Given the description of an element on the screen output the (x, y) to click on. 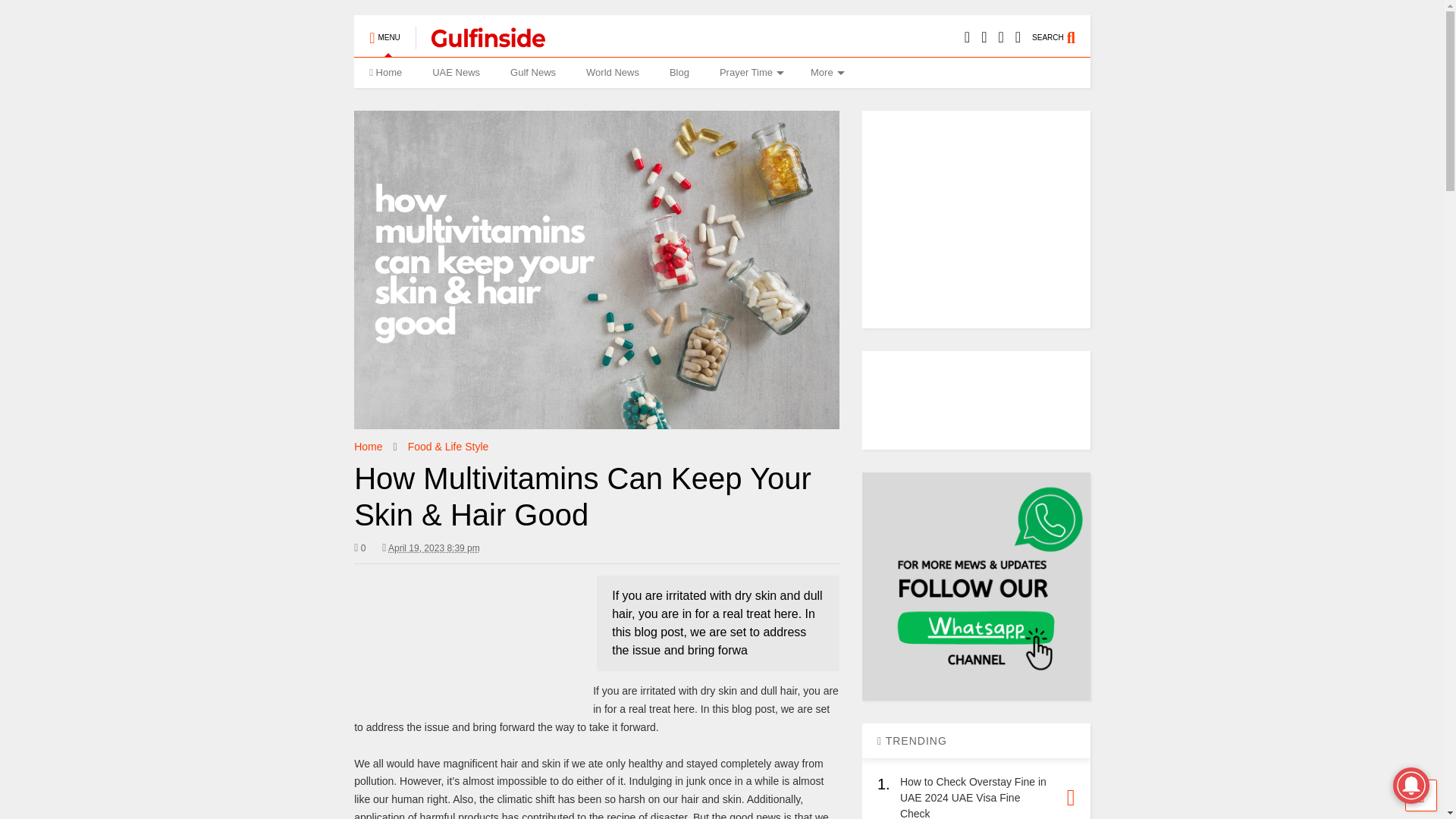
Advertisement (466, 632)
World News (611, 72)
Prayer Time (749, 72)
Gulfinside (479, 42)
More (825, 72)
Gulf News (532, 72)
Blog (678, 72)
Home (384, 72)
SEARCH (1061, 30)
UAE News (455, 72)
MENU (383, 30)
April 19, 2023 8:39 pm (434, 547)
